Given the description of an element on the screen output the (x, y) to click on. 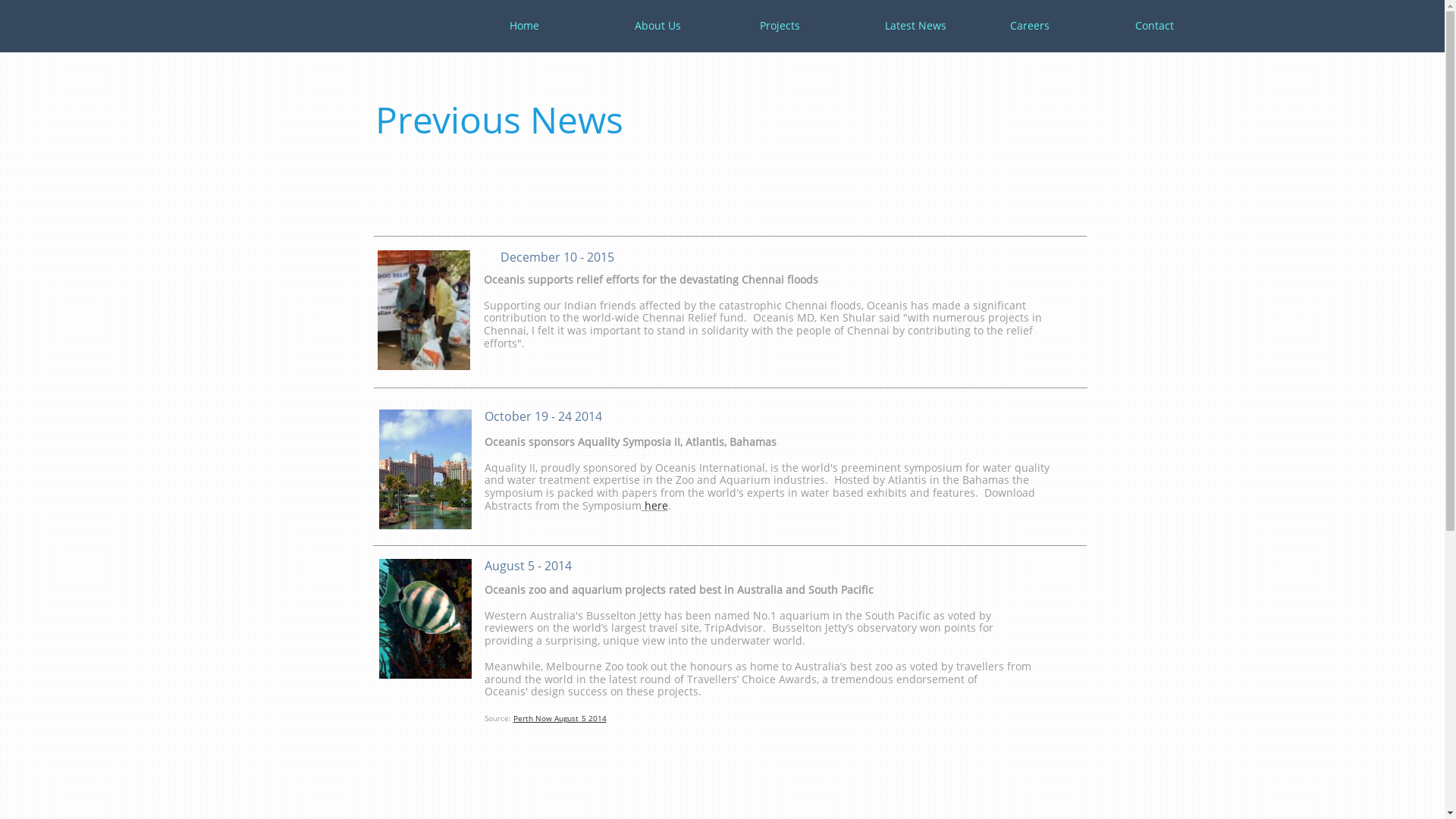
Projects Element type: text (810, 26)
Home Element type: text (560, 26)
About Us Element type: text (684, 26)
Perth Now August Element type: text (544, 717)
Careers Element type: text (1060, 26)
Latest News Element type: text (934, 26)
5 2014 Element type: text (592, 716)
Contact Element type: text (1184, 26)
